Given the description of an element on the screen output the (x, y) to click on. 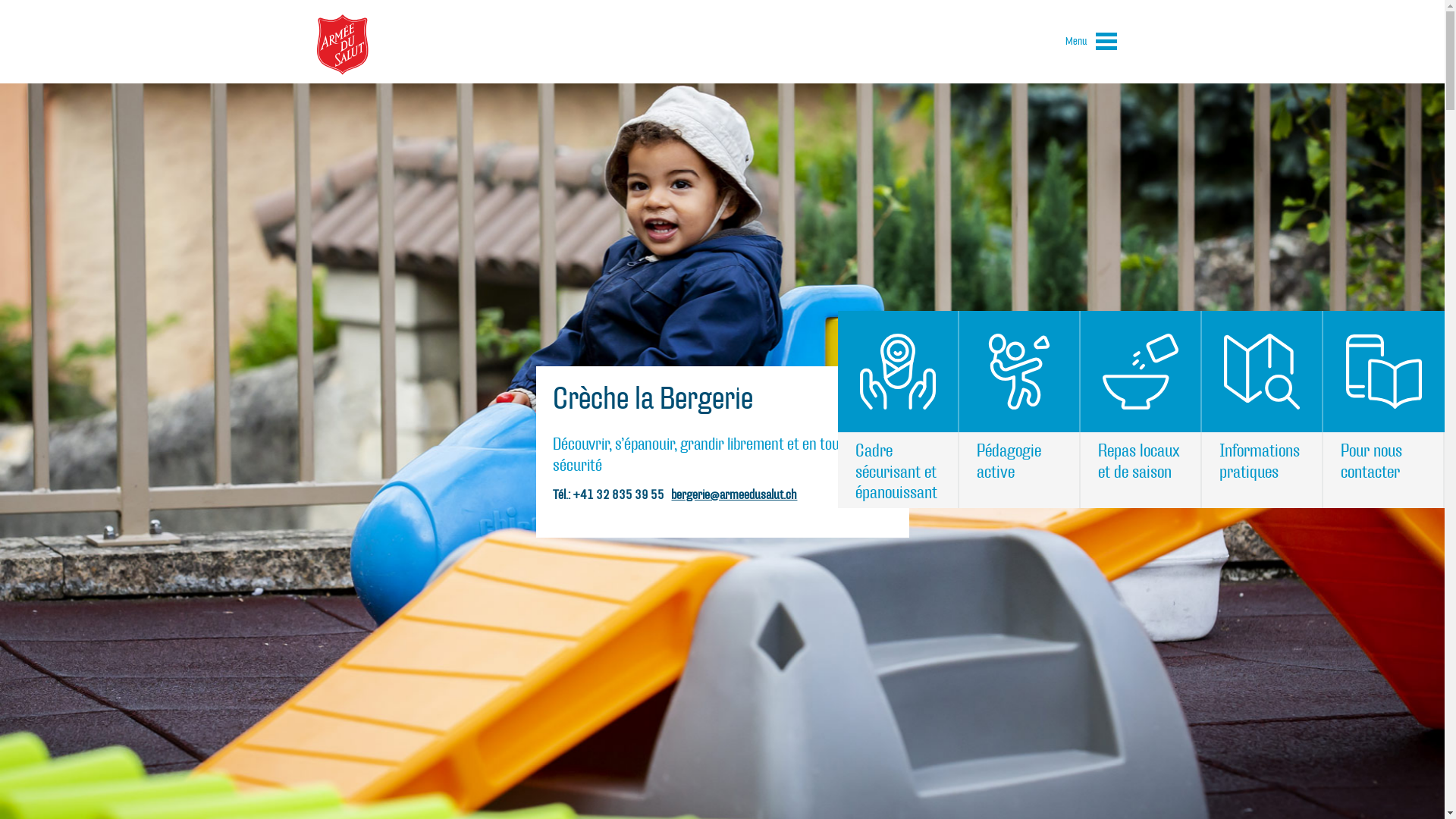
Informations pratiques Element type: text (1262, 409)
Menu Element type: text (1091, 44)
Pour nous contacter Element type: text (1383, 409)
bergerie@armeedusalut.ch Element type: text (734, 494)
Repas locaux et de saison Element type: text (1140, 409)
